Given the description of an element on the screen output the (x, y) to click on. 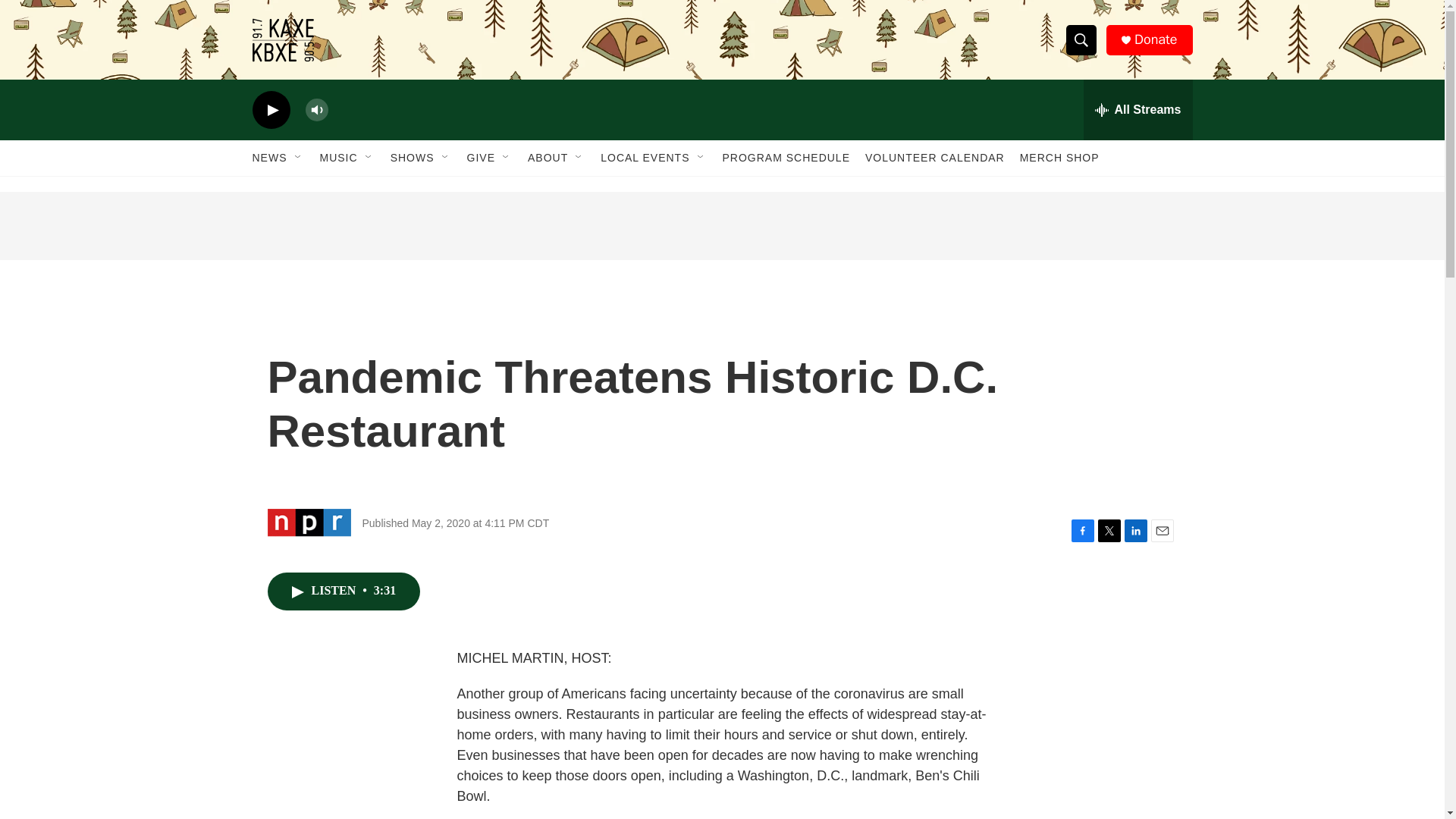
3rd party ad content (721, 225)
